Given the description of an element on the screen output the (x, y) to click on. 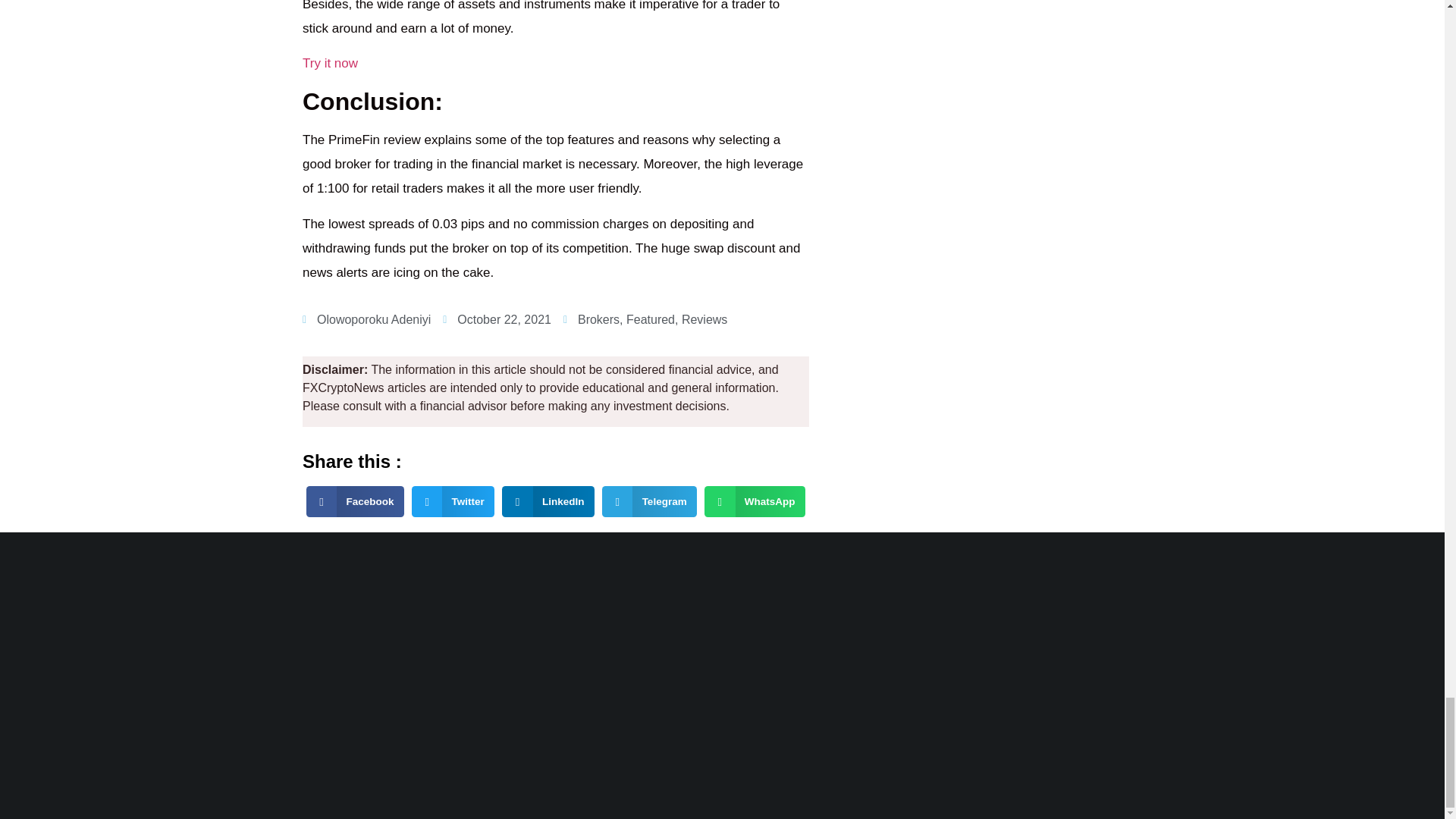
Featured (650, 318)
Brokers (599, 318)
October 22, 2021 (496, 320)
Olowoporoku Adeniyi (366, 320)
Reviews (703, 318)
Try it now (330, 63)
